Given the description of an element on the screen output the (x, y) to click on. 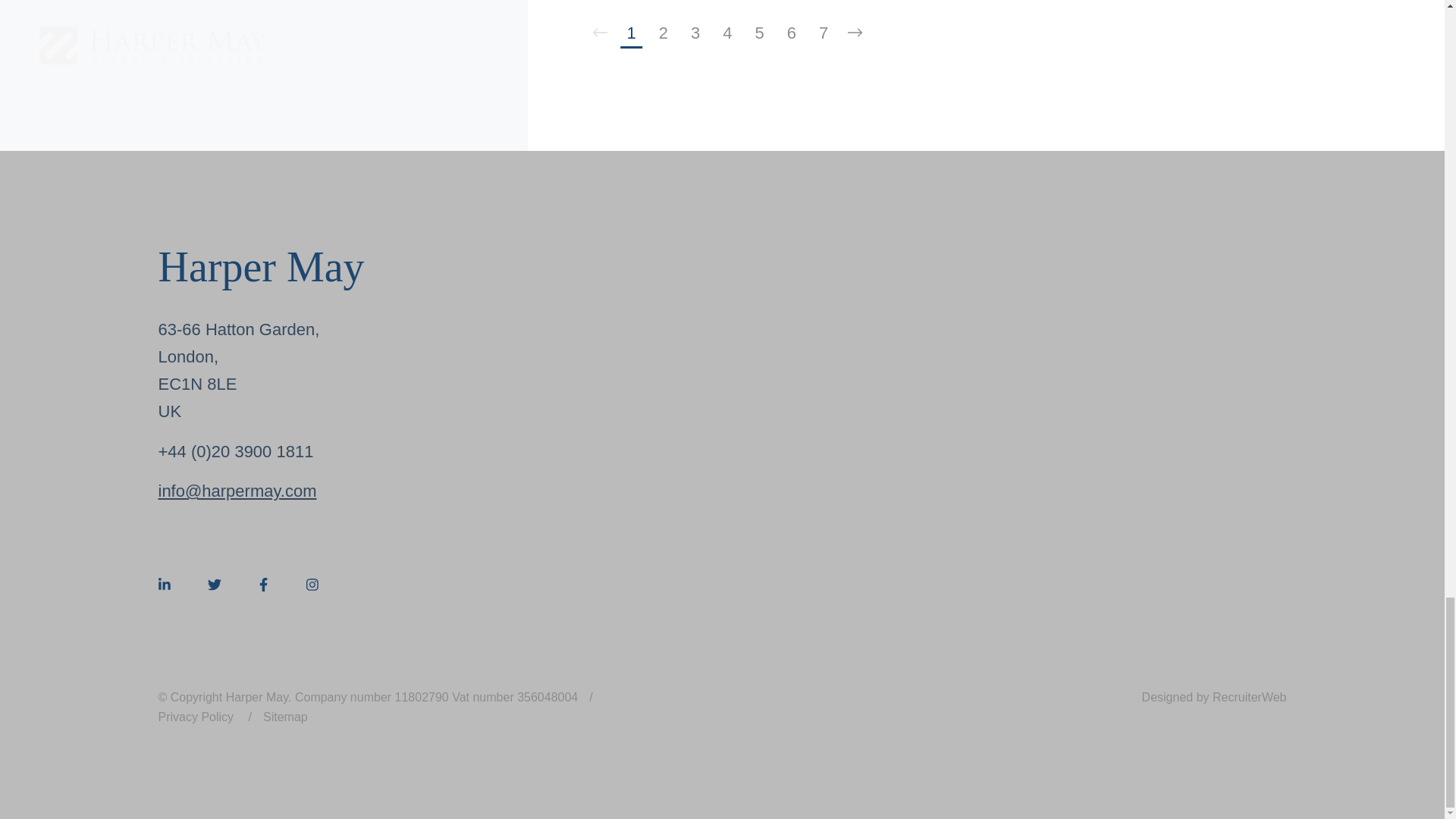
2 (663, 33)
5 (758, 33)
7 (824, 33)
4 (726, 33)
RecruiterWEB (1214, 697)
3 (695, 33)
6 (792, 33)
